Given the description of an element on the screen output the (x, y) to click on. 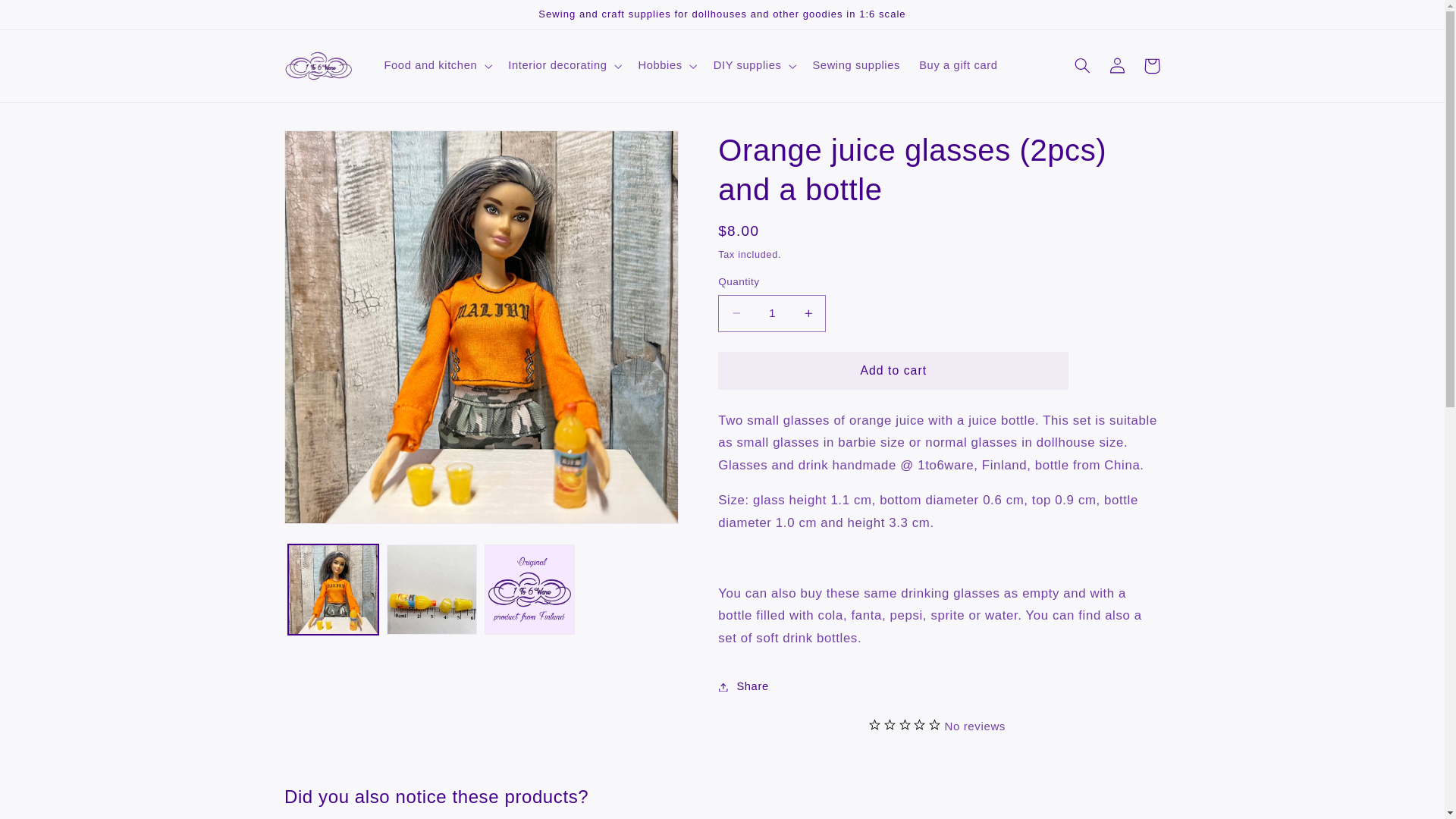
Sewing supplies Element type: text (856, 65)
Cart Element type: text (1151, 65)
Buy a gift card Element type: text (958, 65)
Log in Element type: text (1116, 65)
Skip to product information Element type: text (331, 147)
Add to cart Element type: text (893, 370)
